Given the description of an element on the screen output the (x, y) to click on. 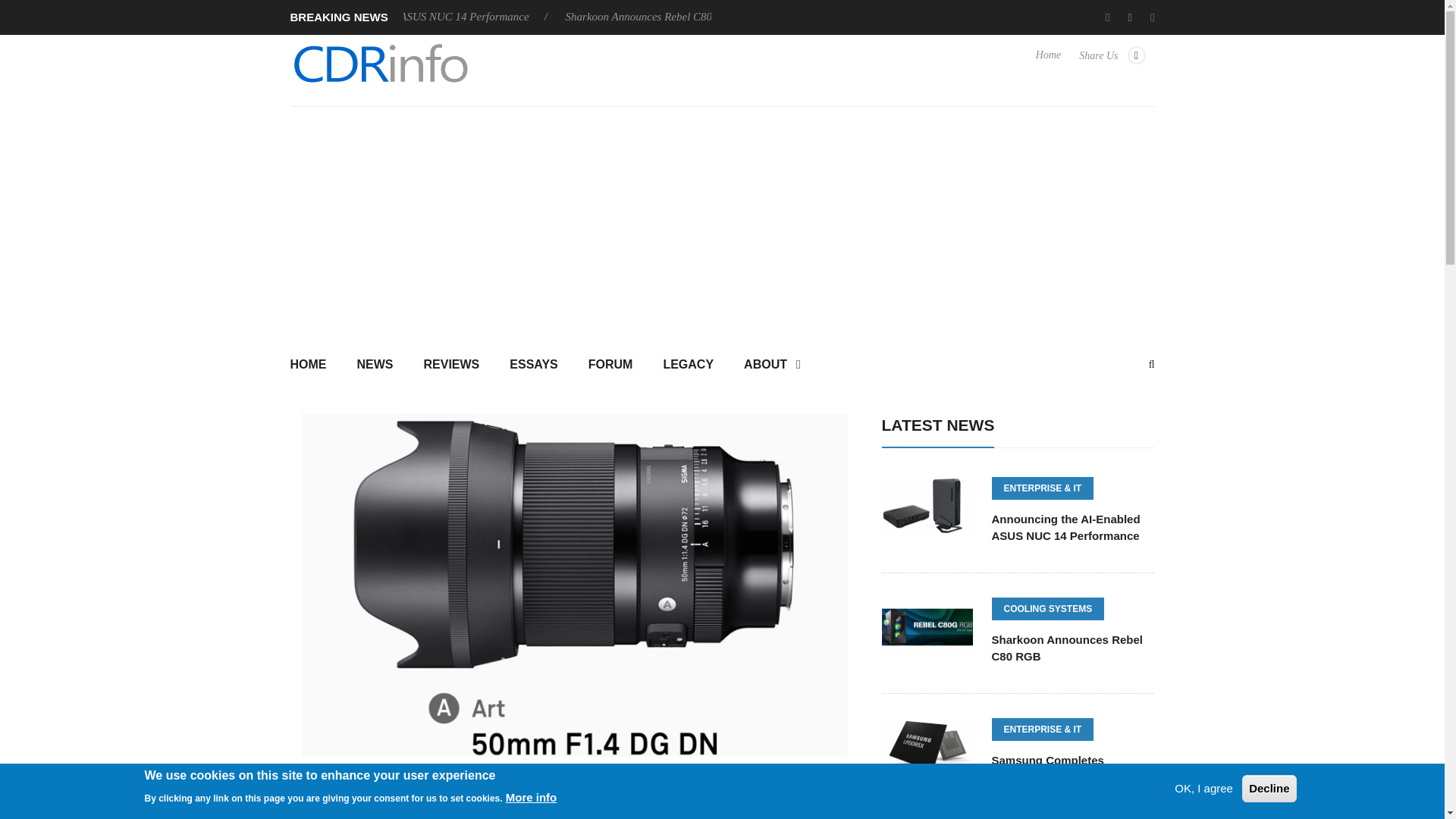
FORUM (610, 366)
Share Us (1112, 62)
REVIEWS (451, 366)
NEWS (373, 366)
Sharkoon announces SKILLER SGK36 keyboard (135, 16)
Home (1048, 62)
Announcing the AI-Enabled ASUS NUC 14 Performance (408, 16)
Sharkoon Announces Rebel C80 RGB (660, 16)
ESSAYS (533, 366)
LEGACY (688, 366)
ABOUT (772, 366)
Search (722, 499)
